Given the description of an element on the screen output the (x, y) to click on. 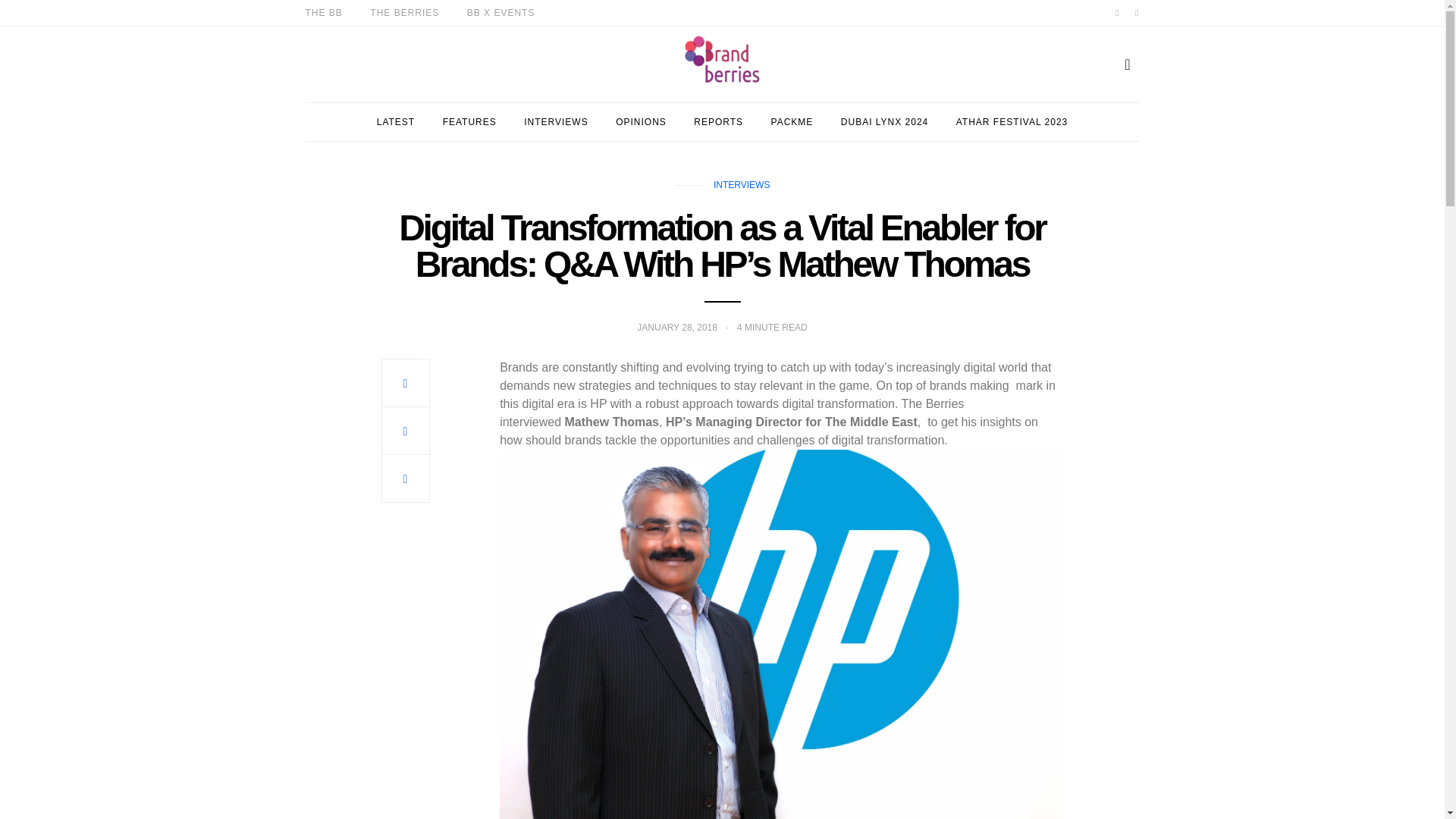
OPINIONS (640, 121)
LATEST (395, 121)
PACKME (792, 121)
BB X EVENTS (501, 12)
THE BB (323, 12)
FEATURES (469, 121)
REPORTS (718, 121)
INTERVIEWS (556, 121)
DUBAI LYNX 2024 (884, 121)
ATHAR FESTIVAL 2023 (1012, 121)
INTERVIEWS (741, 184)
THE BERRIES (404, 12)
